Given the description of an element on the screen output the (x, y) to click on. 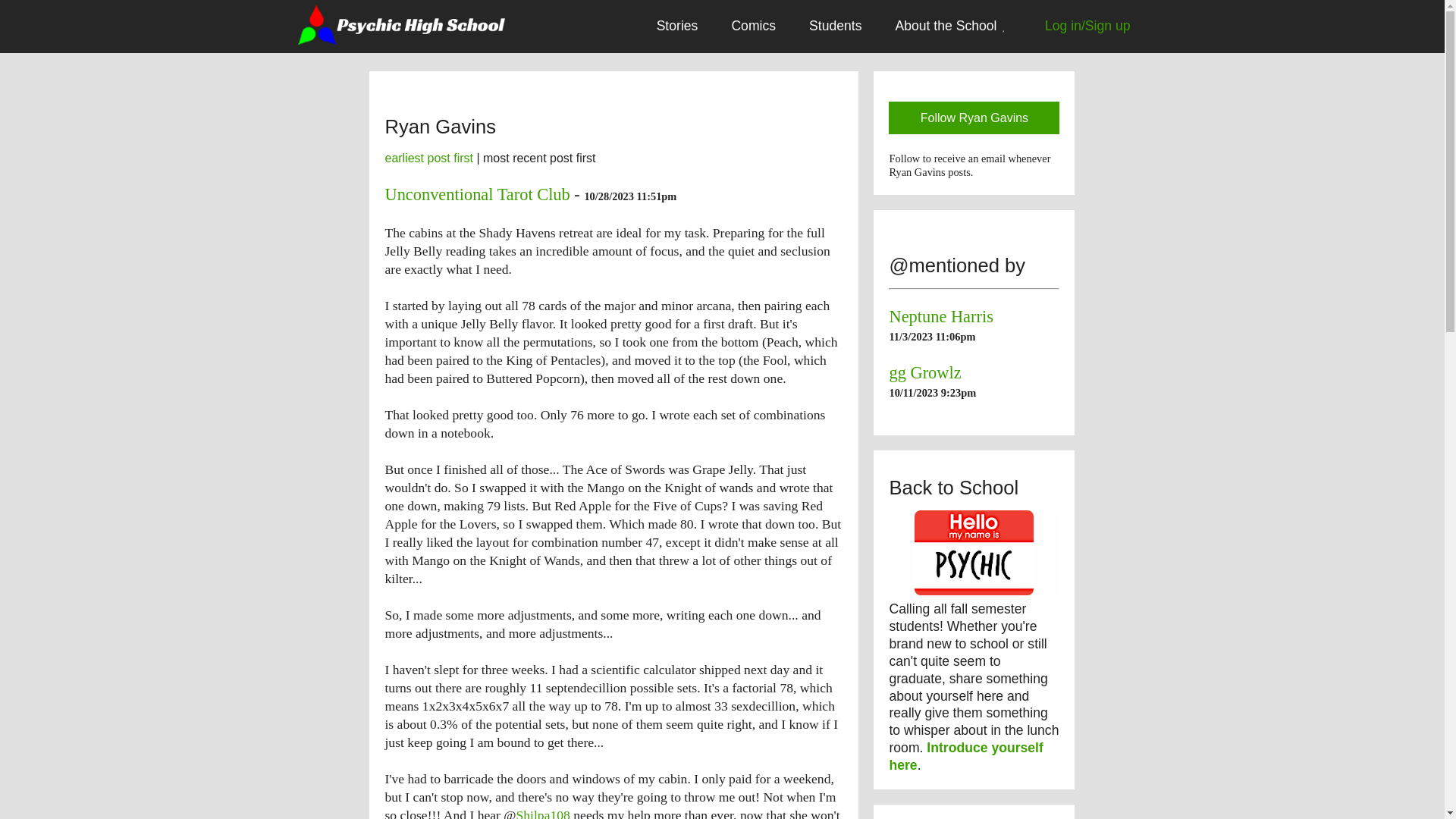
Shilpa108 (543, 813)
Comics (753, 25)
Introduce yourself here (965, 756)
earliest post first (427, 157)
Neptune Harris (940, 316)
Follow Ryan Gavins (973, 117)
About the School (952, 26)
Unconventional Tarot Club (476, 194)
Stories (677, 25)
Students (834, 25)
